Given the description of an element on the screen output the (x, y) to click on. 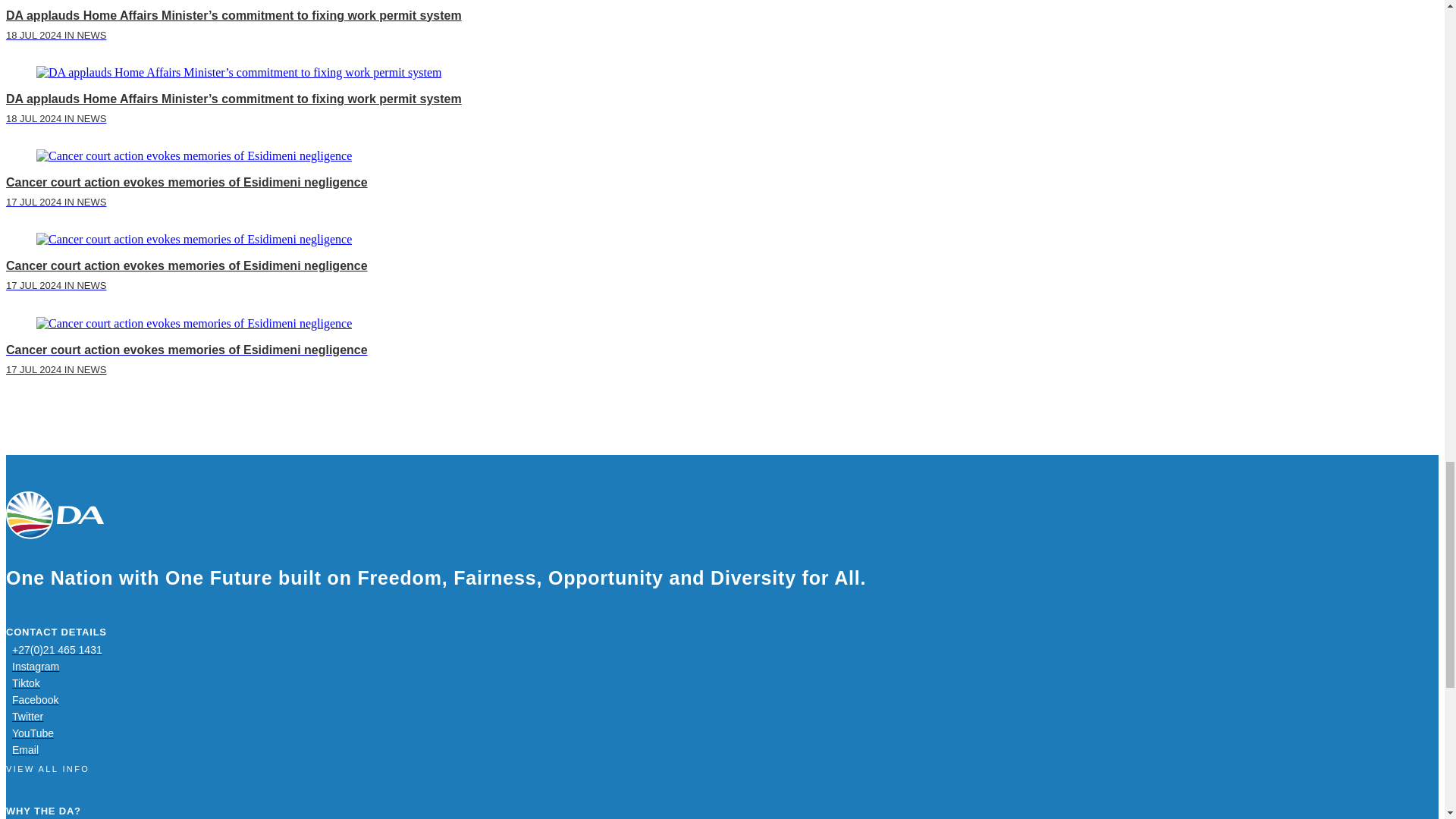
Democratic Alliance Logo (54, 514)
